Given the description of an element on the screen output the (x, y) to click on. 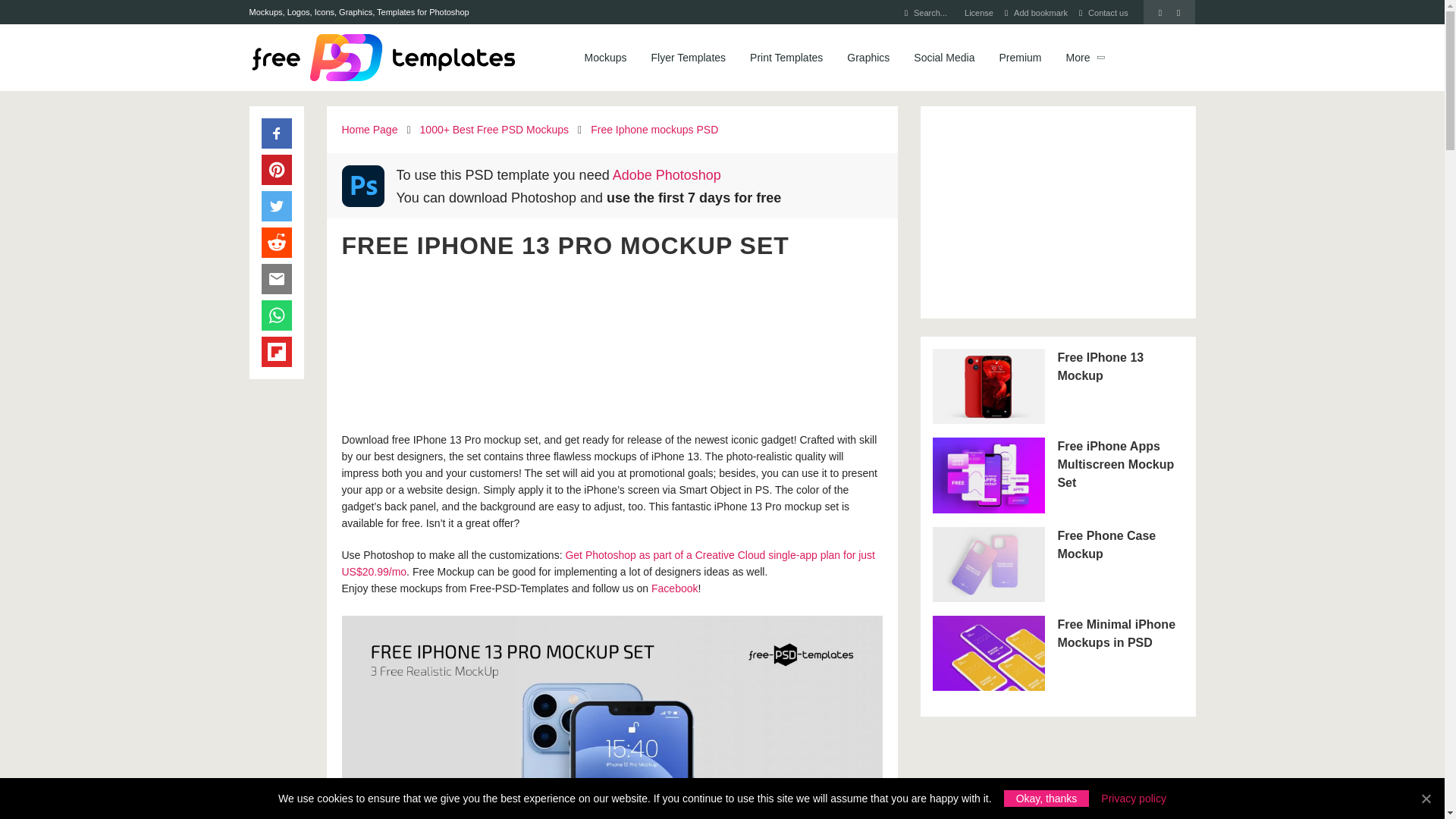
Free iPhone 13 Pro Mockup Set (611, 717)
Contact us (1107, 12)
Add bookmark (1040, 12)
License (977, 12)
Add bookmark (1040, 12)
Flyer Templates (688, 57)
Search... (930, 12)
Mockups (605, 57)
Advertisement (611, 344)
Contact us (1107, 12)
